Given the description of an element on the screen output the (x, y) to click on. 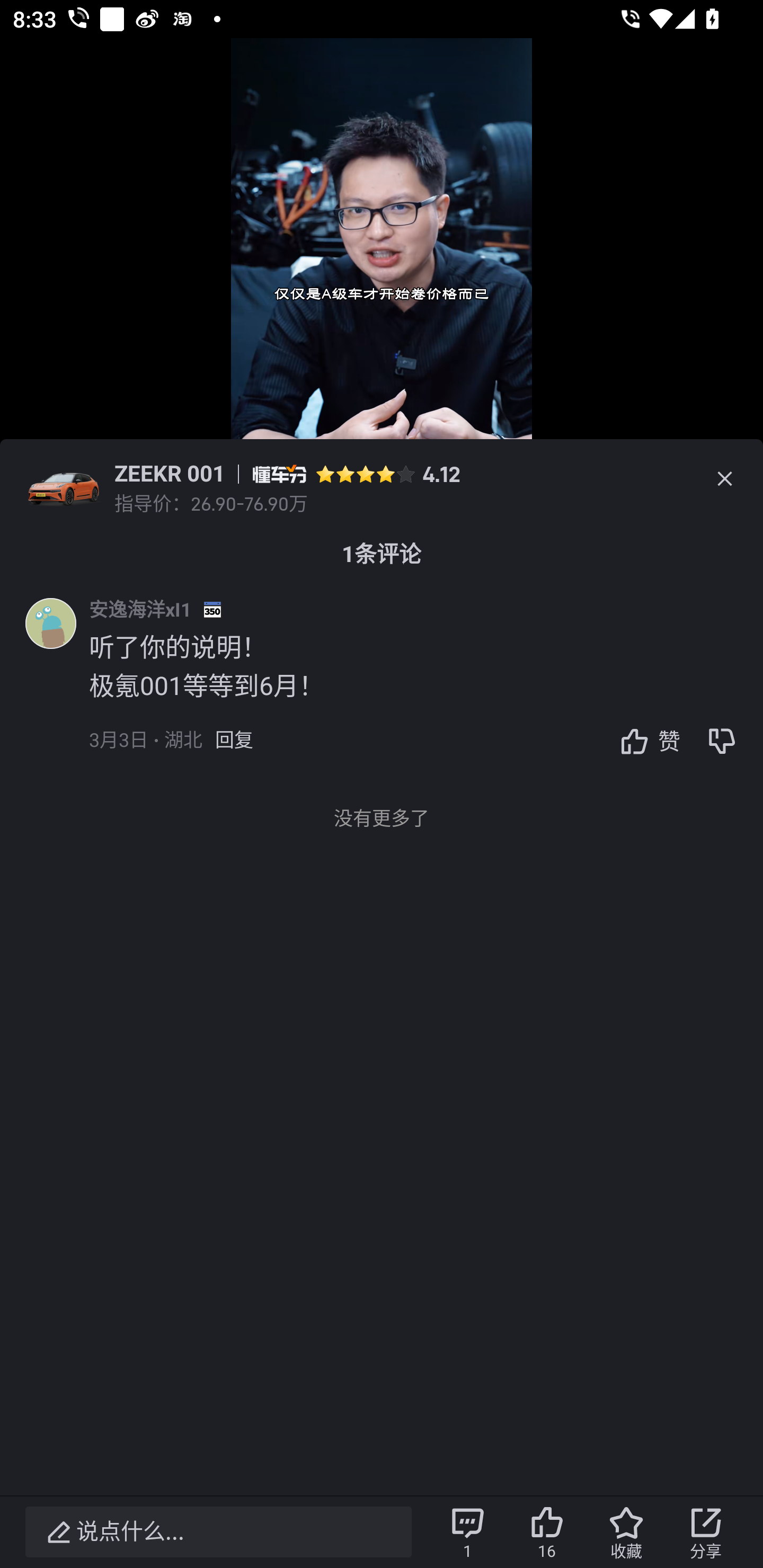
ZEEKR 001 4.12 指导价：26.90-76.90万 (381, 479)
安逸海洋xI1 听了你的说明！
极氪001等等到6月！ 3月3日 < >湖北 回复 赞 (426, 686)
安逸海洋xI1 (140, 609)
赞 (645, 740)
 1 (467, 1531)
16 (546, 1531)
收藏 (625, 1531)
 分享 (705, 1531)
 说点什么... (218, 1531)
